Given the description of an element on the screen output the (x, y) to click on. 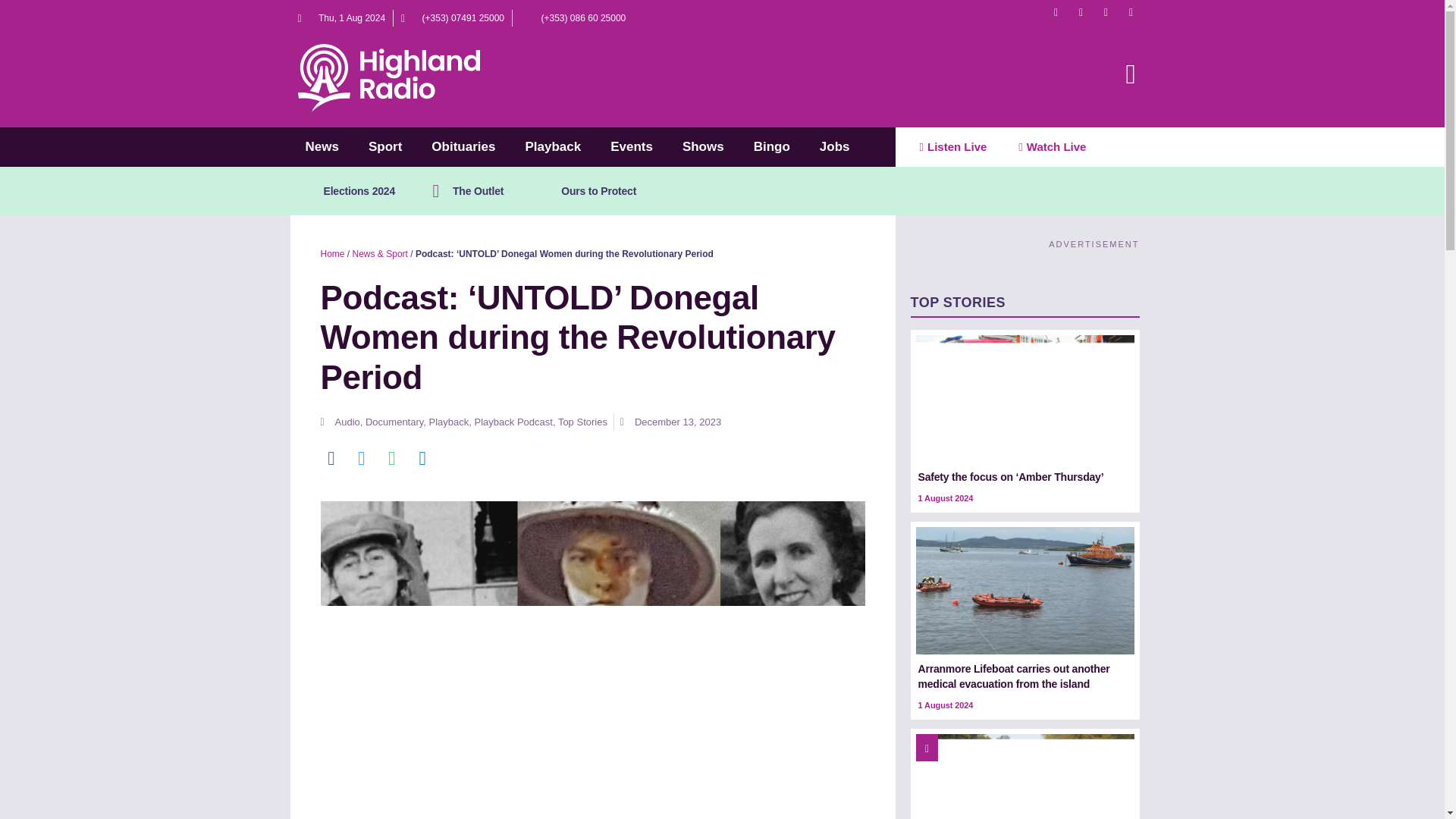
Events (631, 146)
Obituaries (462, 146)
Jobs (834, 146)
Shows (702, 146)
Amber Thursday (1024, 398)
Arranmore RNLI (1024, 590)
Playback (552, 146)
train track (1024, 776)
Sport (384, 146)
News (320, 146)
Bingo (772, 146)
